Given the description of an element on the screen output the (x, y) to click on. 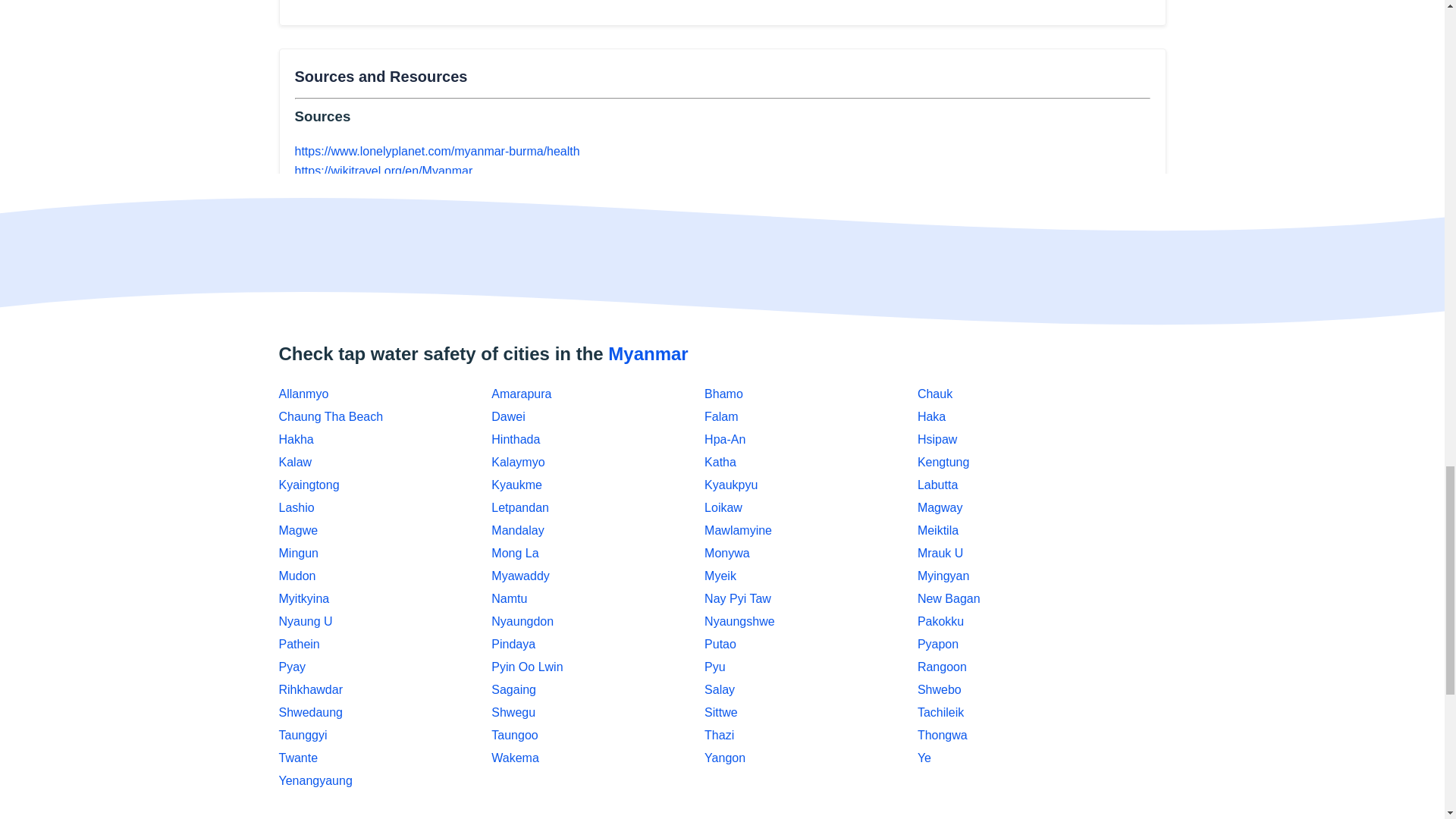
Myanmar (647, 353)
Amarapura (521, 393)
Allanmyo (304, 393)
